Given the description of an element on the screen output the (x, y) to click on. 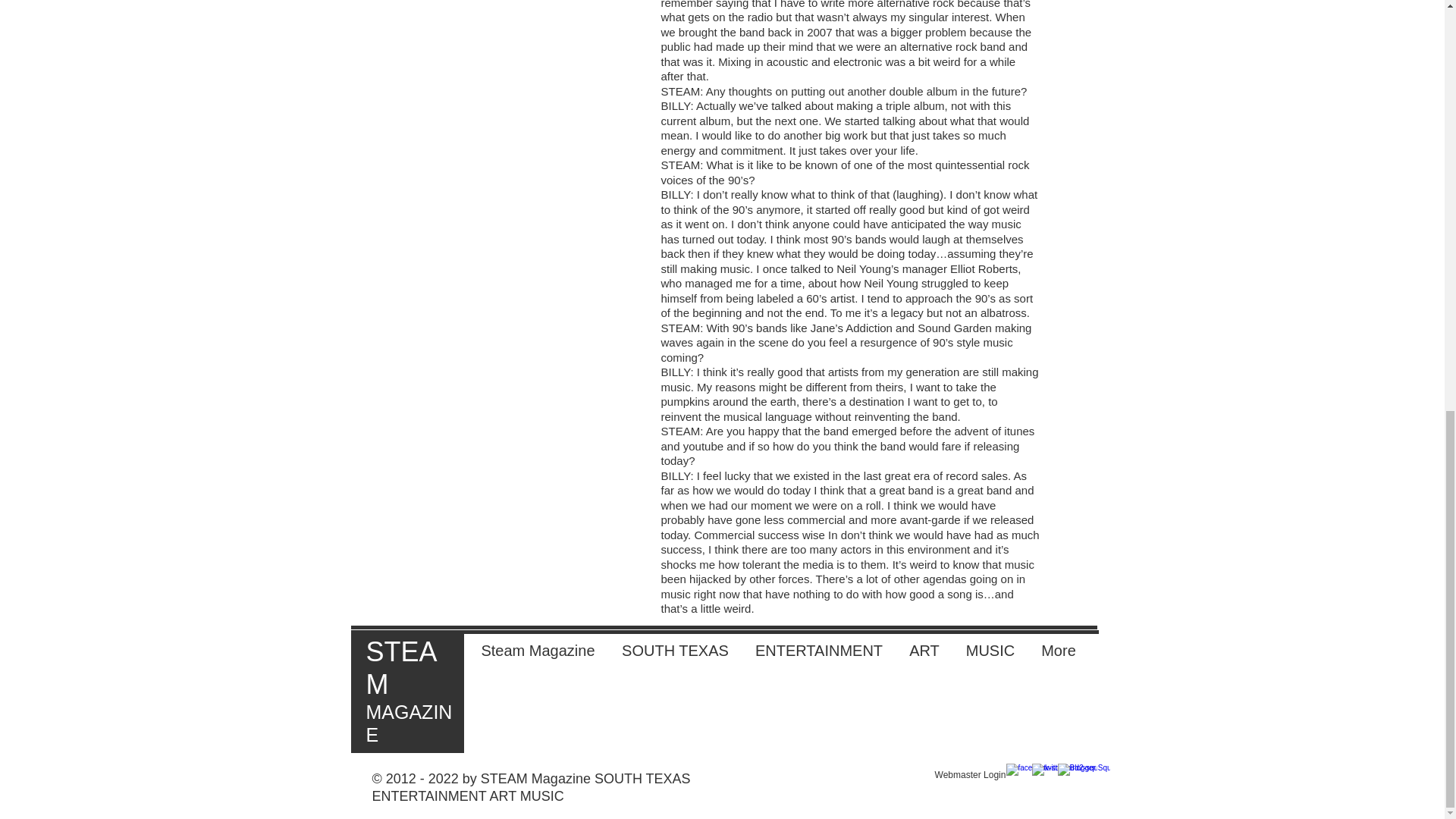
ART (924, 650)
Webmaster Login (970, 775)
Steam Magazine (537, 650)
SOUTH TEXAS (674, 650)
ENTERTAINMENT (818, 650)
MUSIC (989, 650)
